Given the description of an element on the screen output the (x, y) to click on. 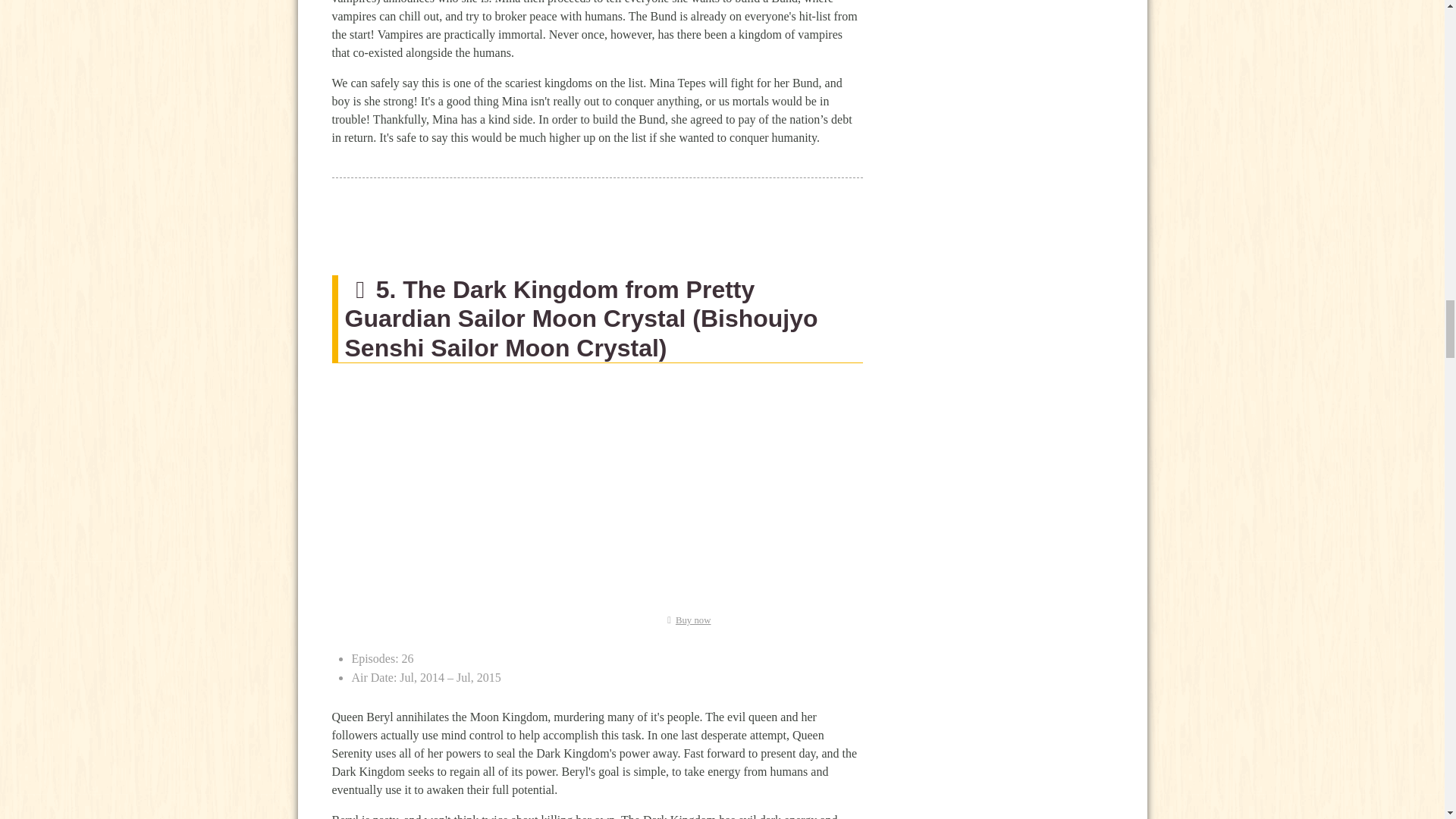
Buy now (686, 620)
